Given the description of an element on the screen output the (x, y) to click on. 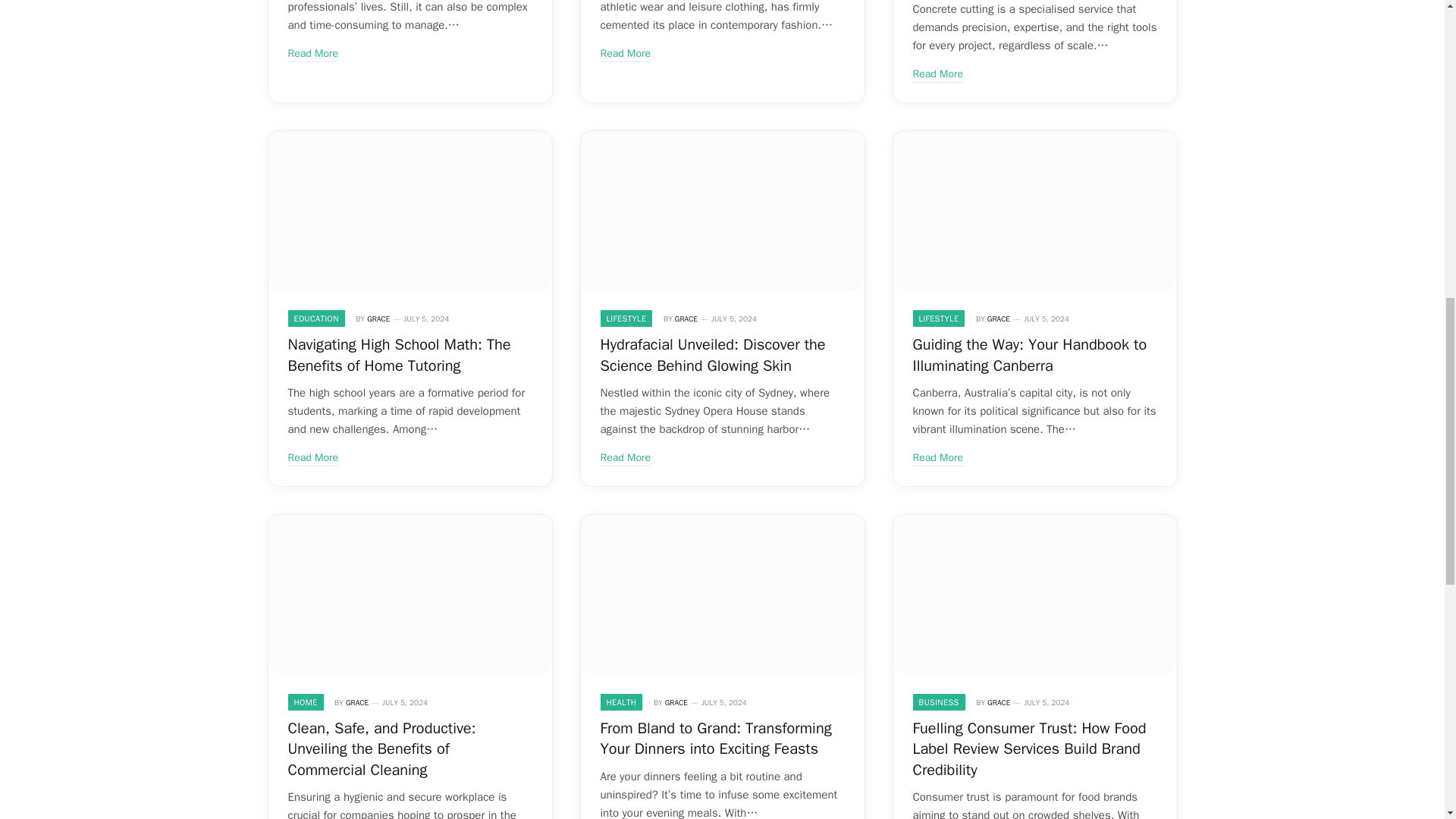
Posts by Grace (378, 318)
Navigating High School Math: The Benefits of Home Tutoring (409, 210)
